Given the description of an element on the screen output the (x, y) to click on. 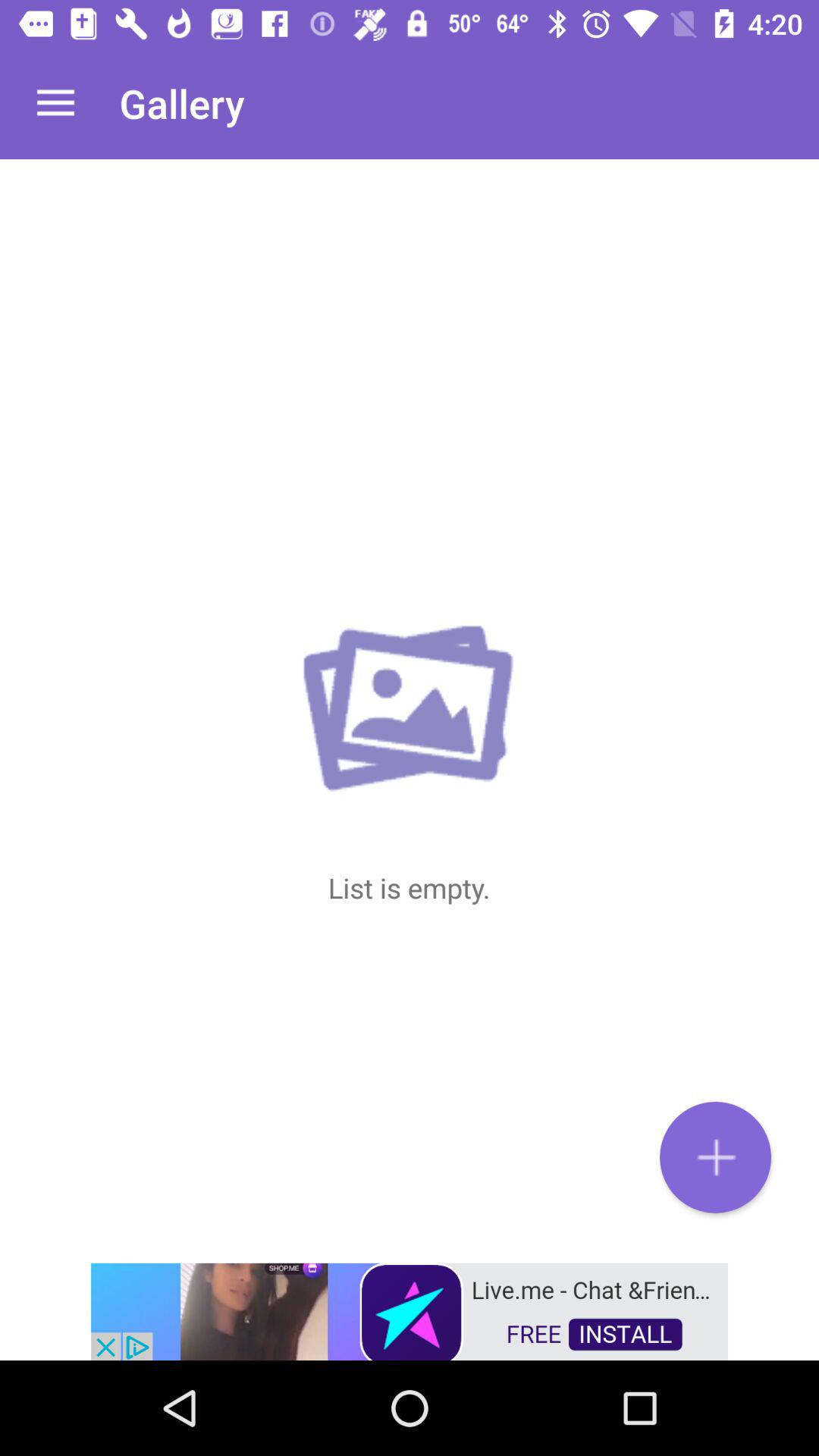
advertisement link (409, 1310)
